Given the description of an element on the screen output the (x, y) to click on. 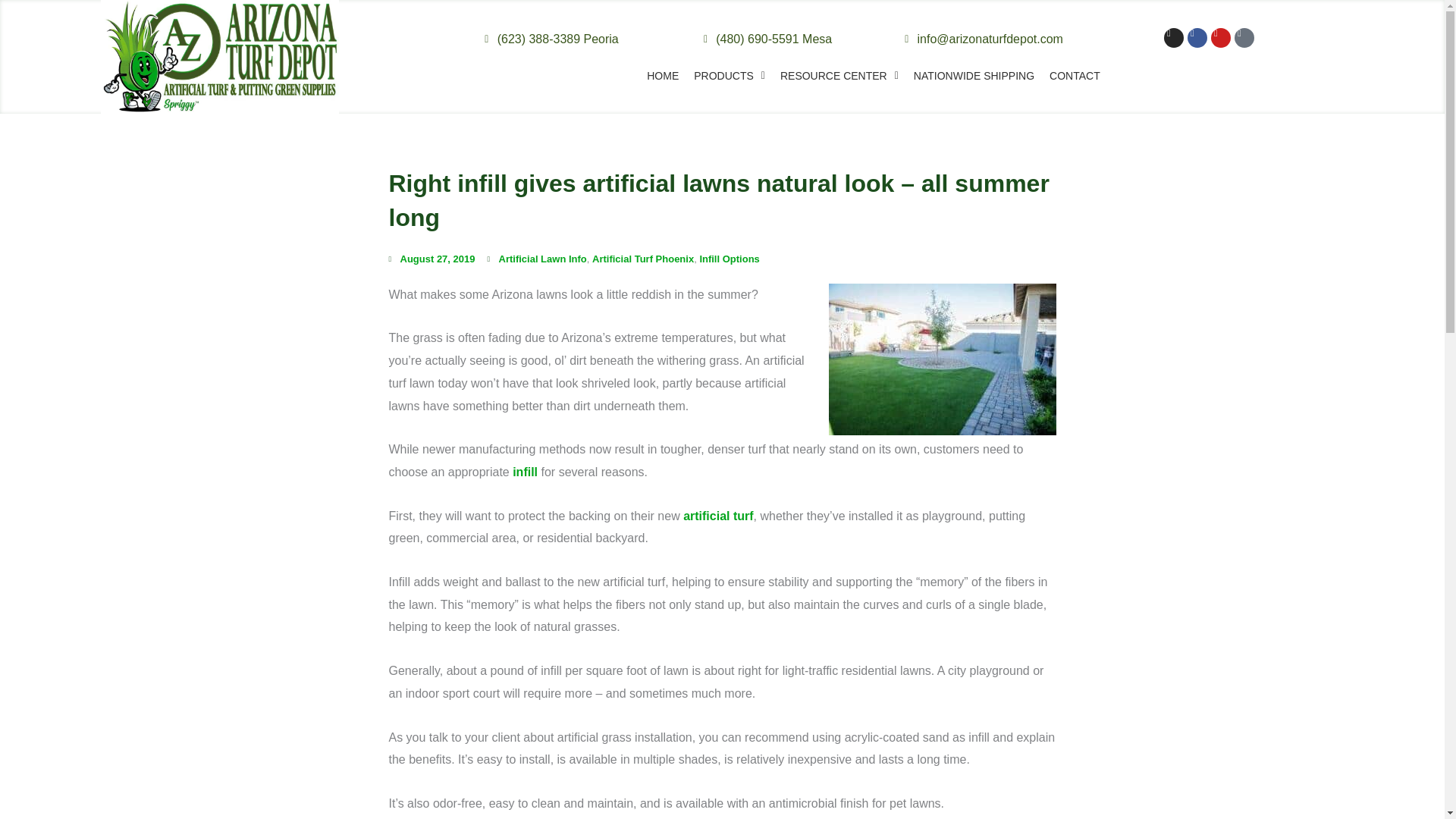
Instagram (1173, 37)
Google (1243, 37)
HOME (662, 75)
Facebook (1197, 37)
RESOURCE CENTER (839, 75)
Youtube (1220, 37)
PRODUCTS (729, 75)
